Given the description of an element on the screen output the (x, y) to click on. 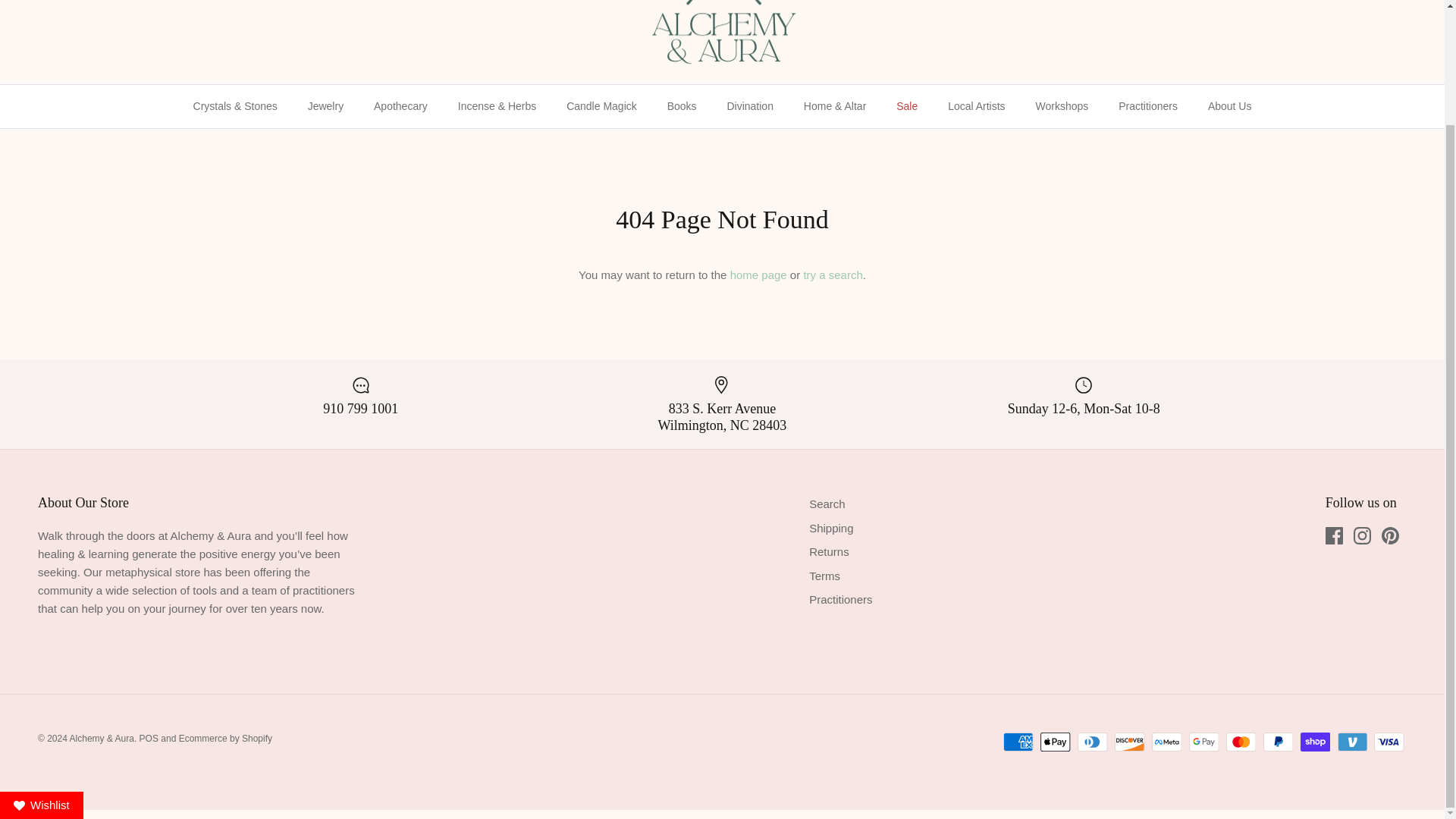
Diners Club (1092, 741)
Google Pay (1203, 741)
Shop Pay (1315, 741)
Instagram (1362, 535)
Mastercard (1240, 741)
American Express (1018, 741)
Discover (1129, 741)
Pinterest (1390, 535)
Apple Pay (1055, 741)
Meta Pay (1166, 741)
